Given the description of an element on the screen output the (x, y) to click on. 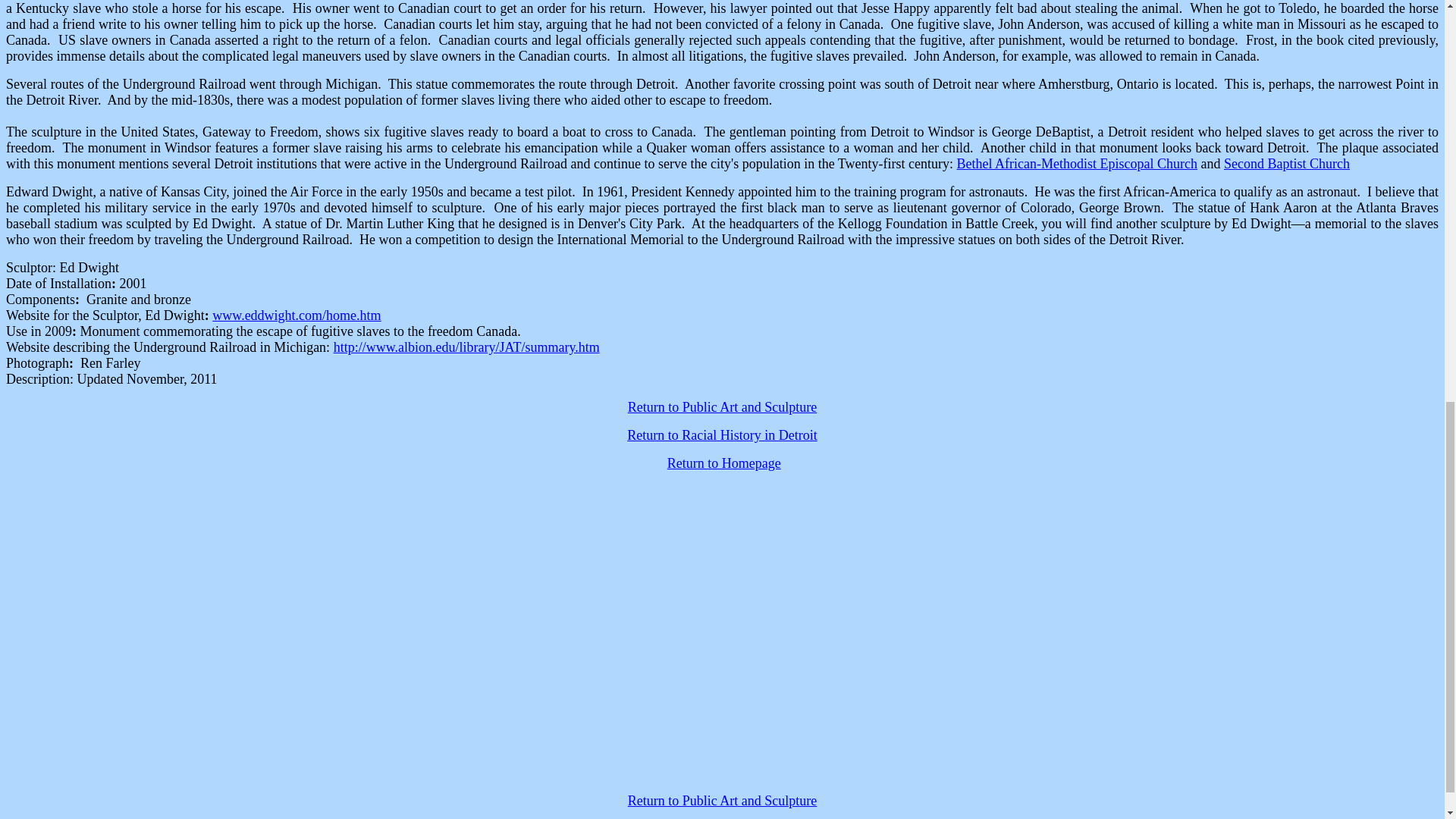
Second Baptist Church (1286, 163)
Return to Homepage (723, 462)
Bethel African-Methodist Episcopal Church (1076, 163)
Return to Racial History in Detroit (721, 435)
Return to Public Art and Sculpture (721, 406)
Return to Public Art and Sculpture (721, 800)
